Given the description of an element on the screen output the (x, y) to click on. 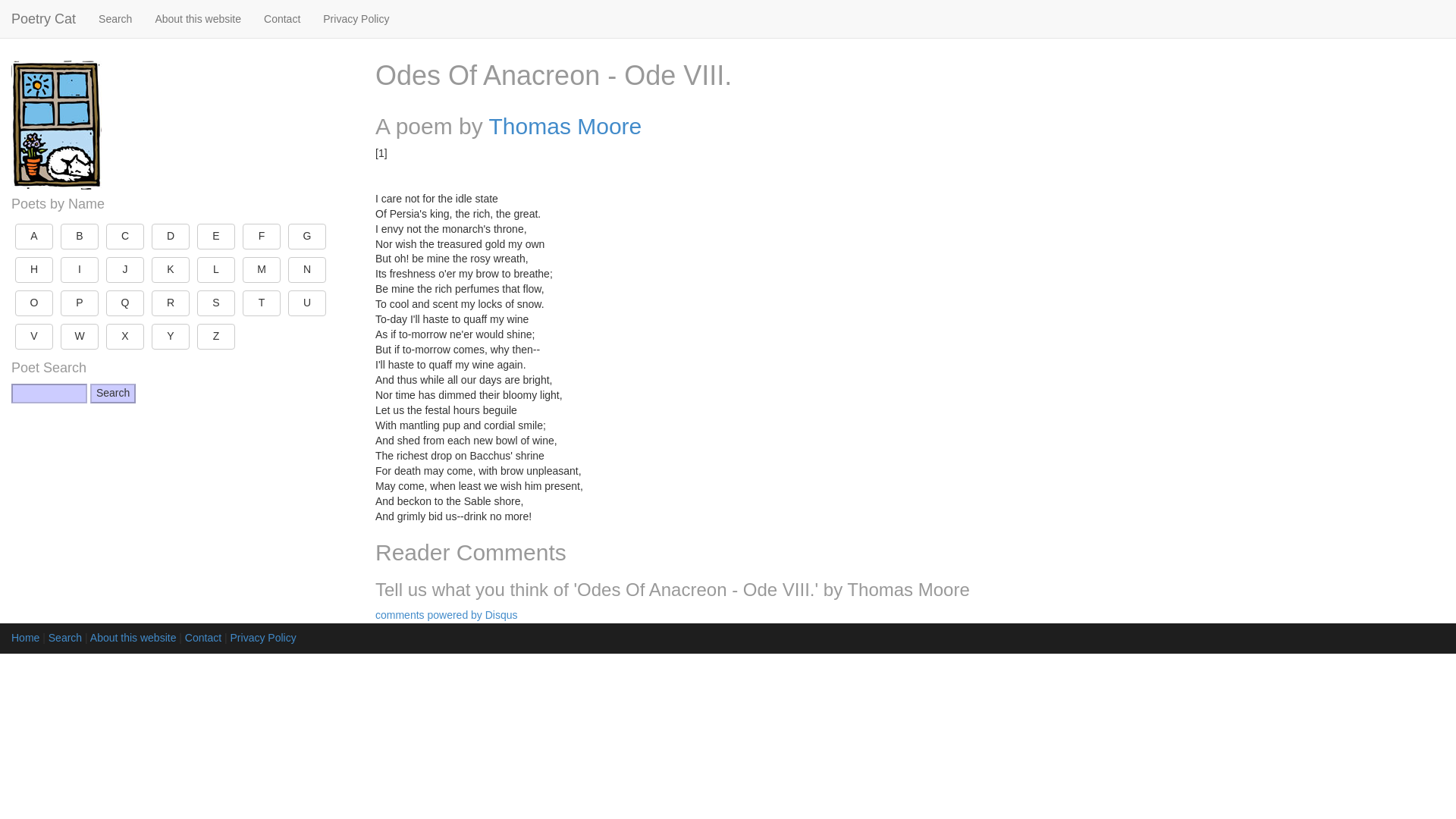
R (170, 303)
C (125, 236)
V (33, 336)
T (262, 303)
F (262, 236)
D (170, 236)
N (307, 269)
H (33, 269)
Search (112, 393)
Search (112, 393)
Contact (281, 18)
K (170, 269)
P (80, 303)
U (307, 303)
B (80, 236)
